Given the description of an element on the screen output the (x, y) to click on. 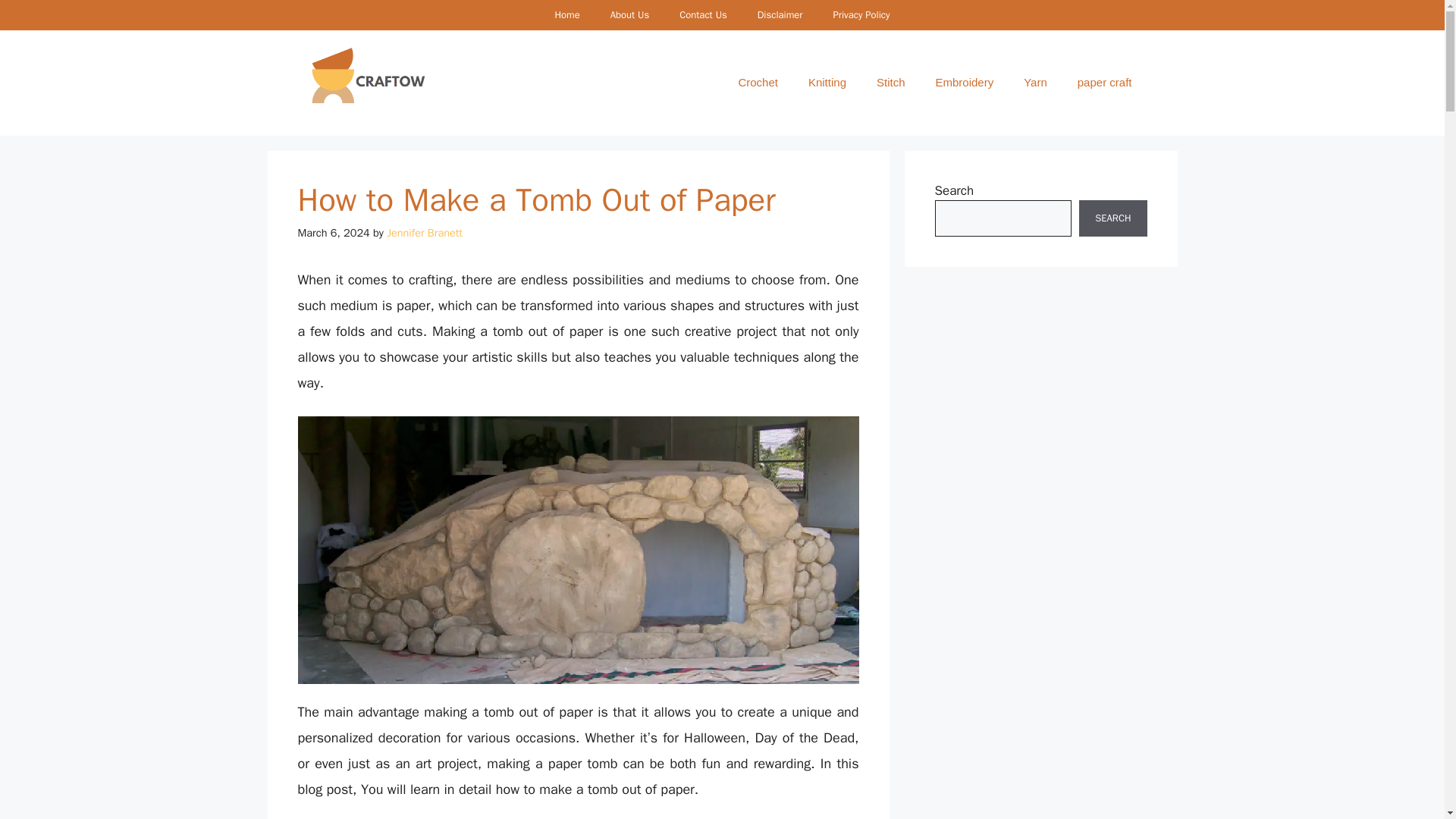
View all posts by Jennifer Branett (425, 232)
Crochet (757, 82)
Knitting (827, 82)
Stitch (890, 82)
paper craft (1104, 82)
Yarn (1035, 82)
Jennifer Branett (425, 232)
SEARCH (1112, 217)
Home (566, 15)
Disclaimer (780, 15)
